Given the description of an element on the screen output the (x, y) to click on. 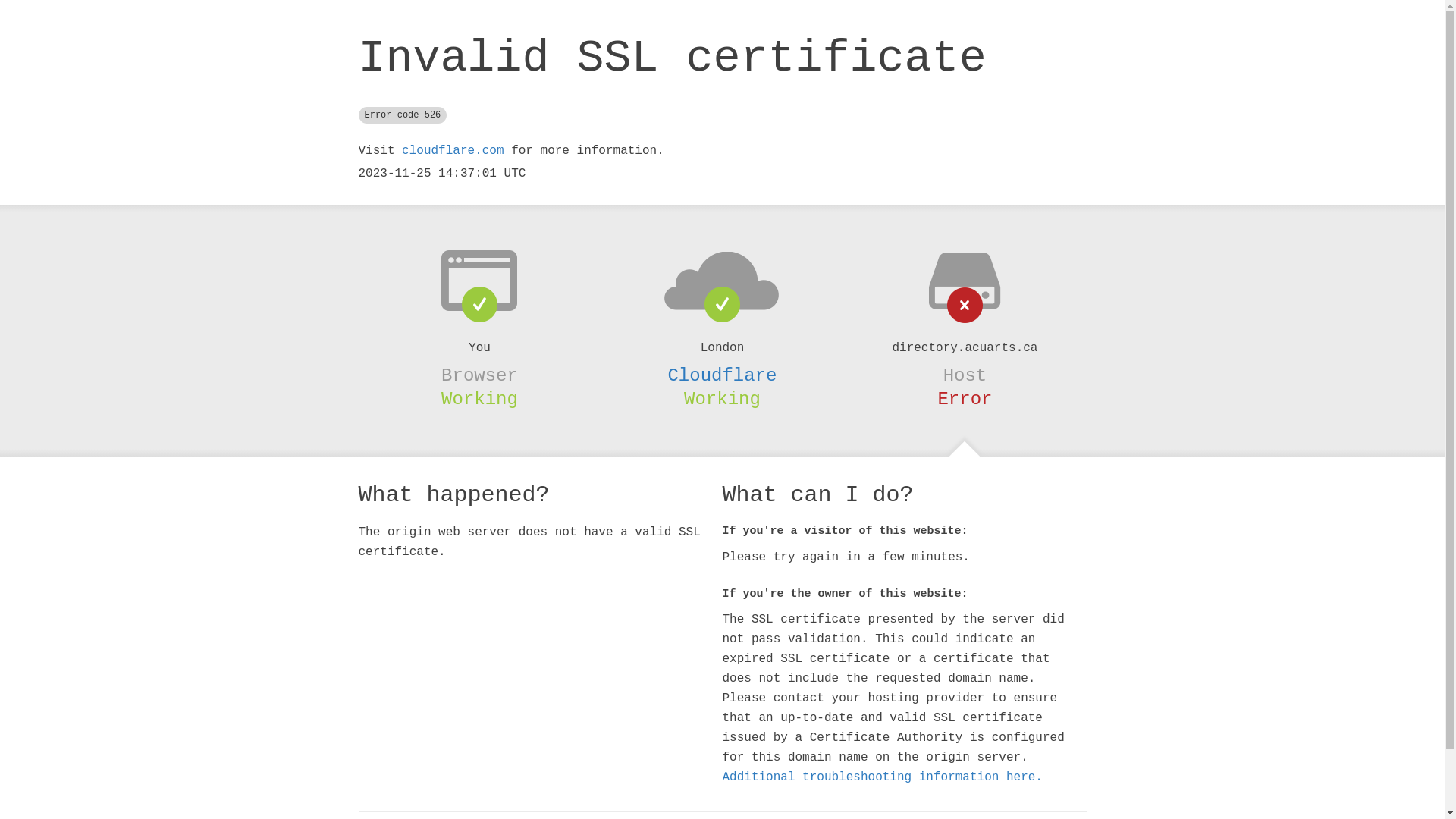
cloudflare.com Element type: text (452, 150)
Cloudflare Element type: text (721, 375)
Additional troubleshooting information here. Element type: text (881, 777)
